Given the description of an element on the screen output the (x, y) to click on. 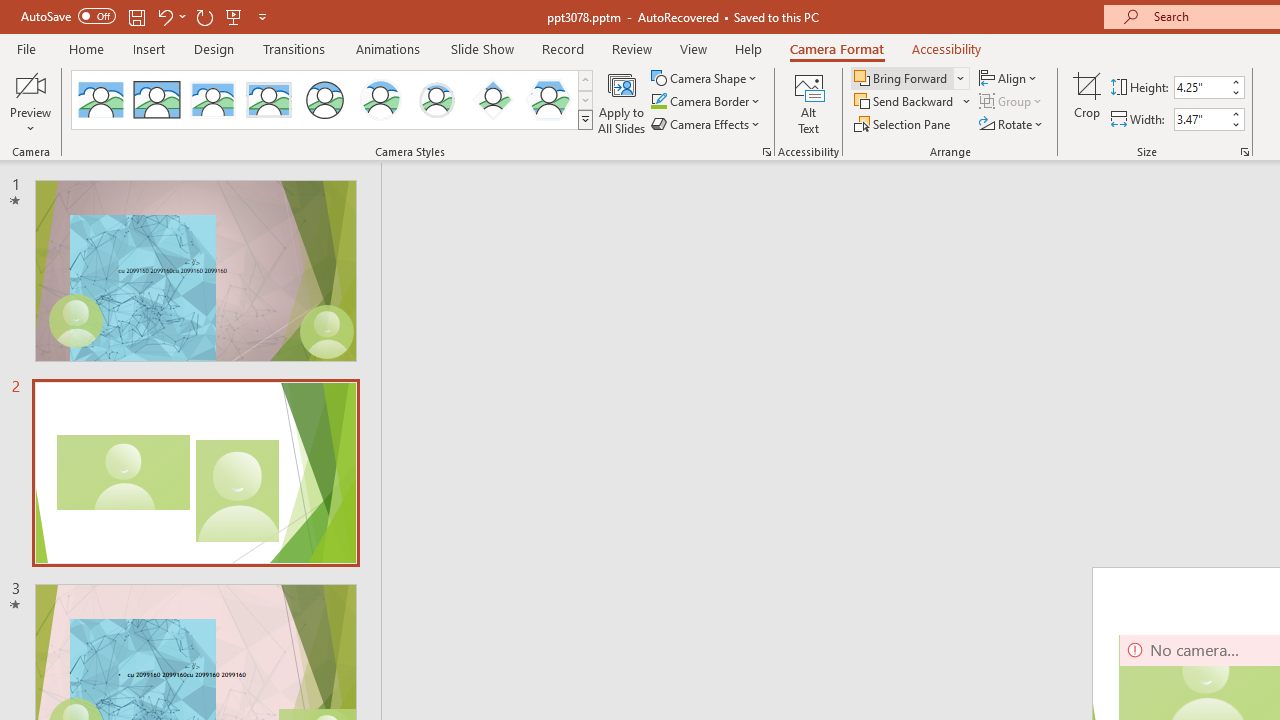
Size and Position... (1244, 151)
Group (1012, 101)
No Style (100, 100)
Rotate (1012, 124)
Bring Forward (902, 78)
Camera Format (836, 48)
Center Shadow Circle (381, 100)
Simple Frame Circle (324, 100)
Enable Camera Preview (30, 84)
Center Shadow Hexagon (548, 100)
